Given the description of an element on the screen output the (x, y) to click on. 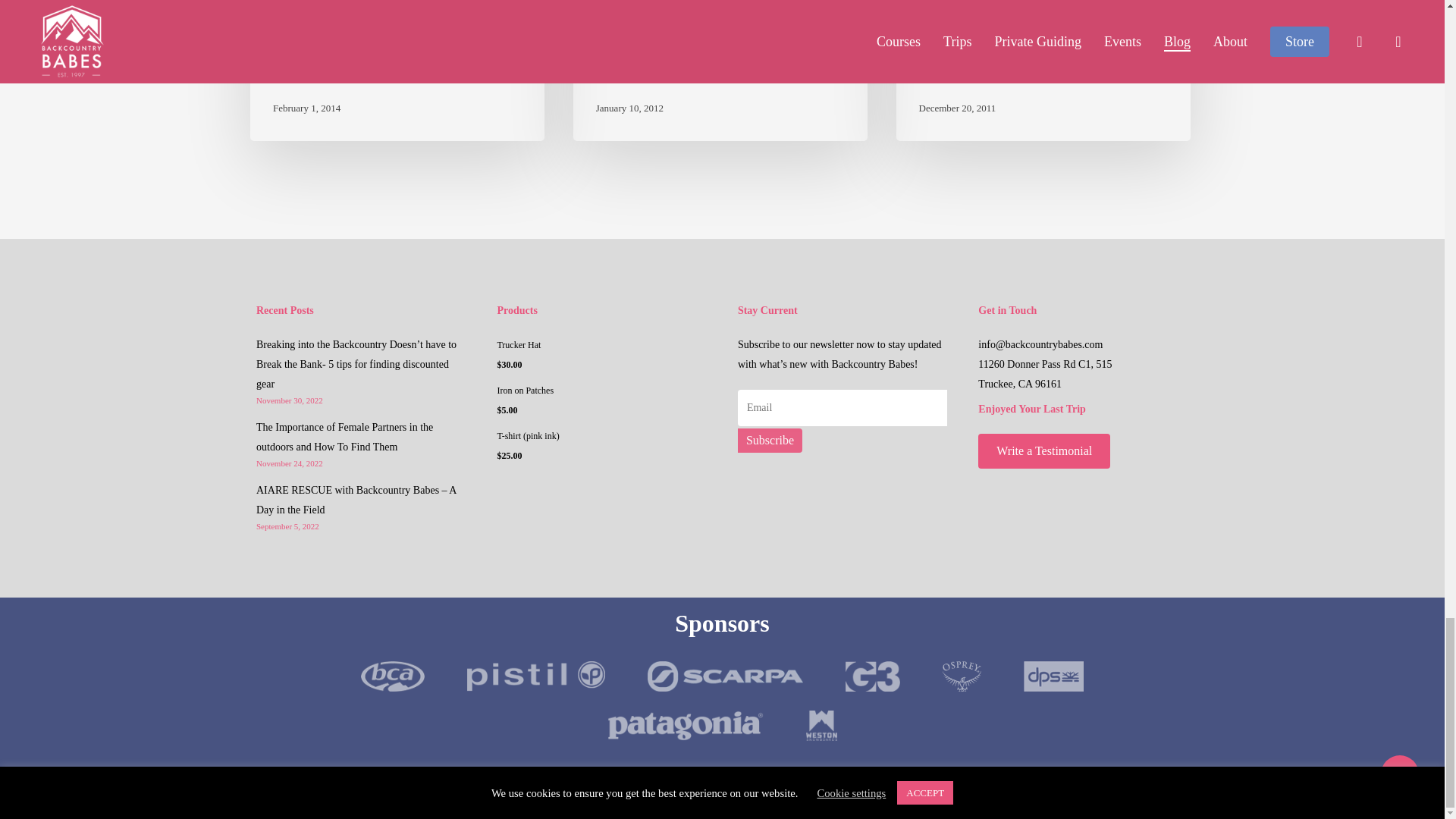
Subscribe (770, 440)
